Given the description of an element on the screen output the (x, y) to click on. 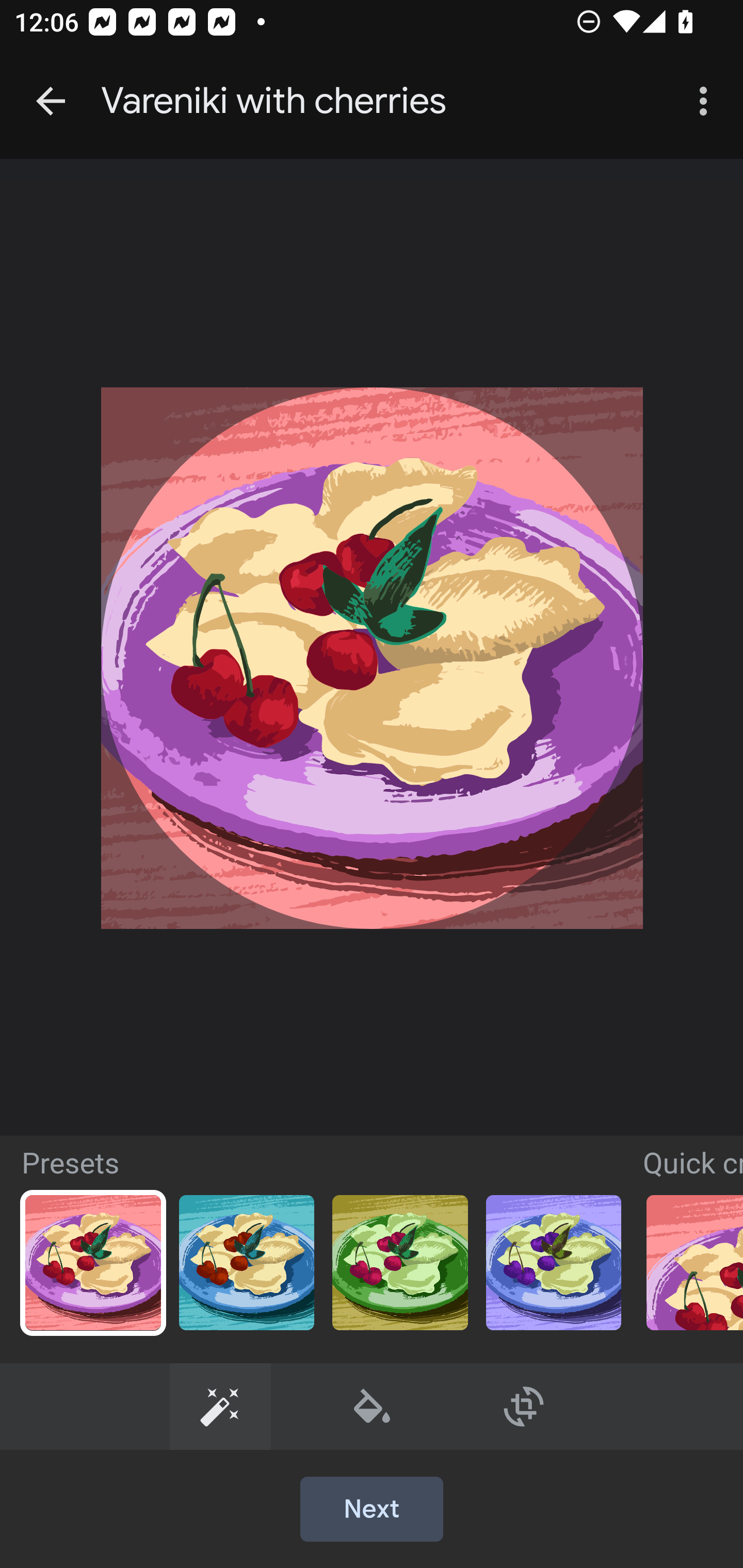
Navigate up (50, 101)
More options (706, 101)
Presets (220, 1406)
Colorize (372, 1406)
Crop (523, 1406)
Next (371, 1509)
